Given the description of an element on the screen output the (x, y) to click on. 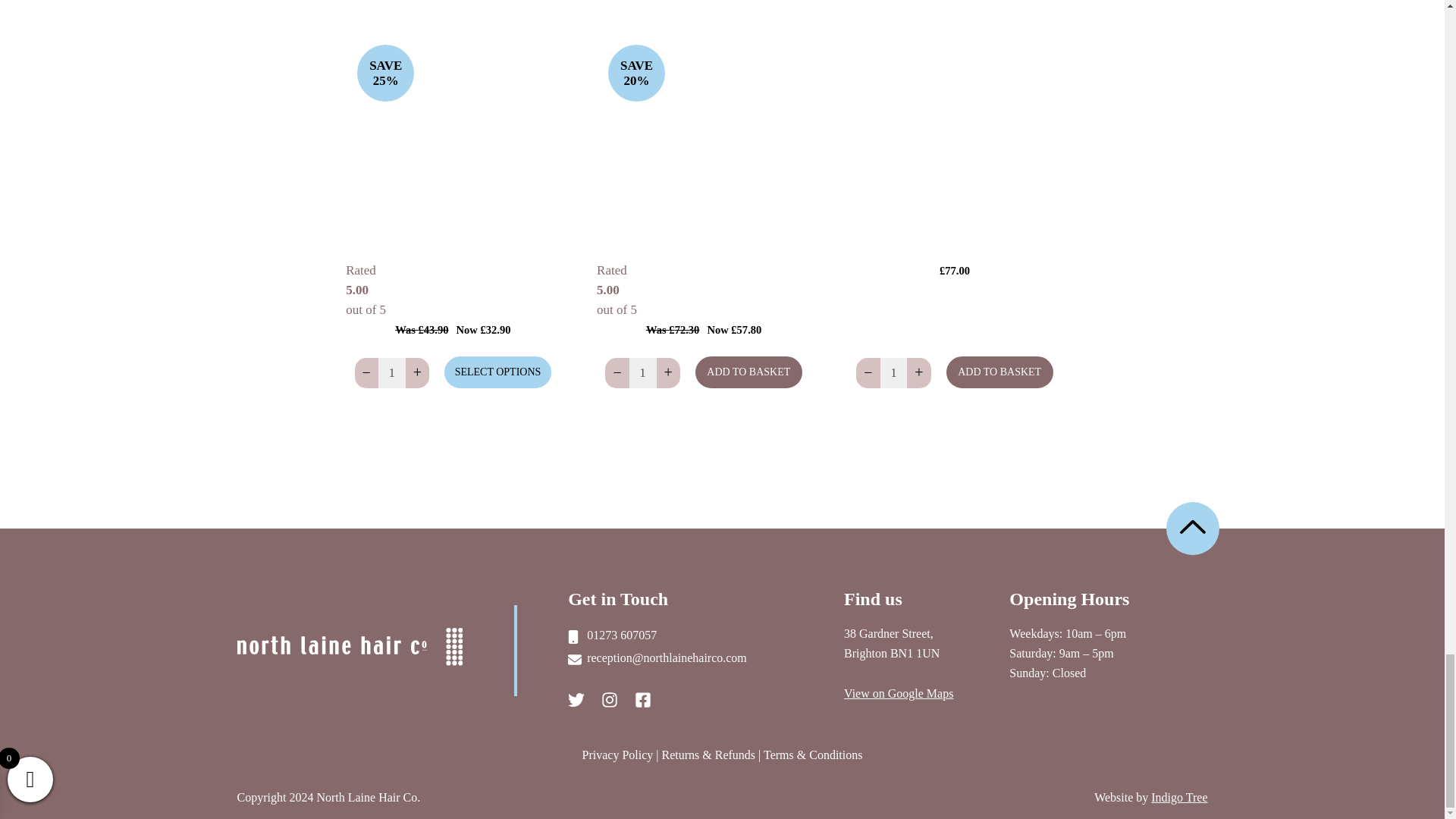
1 (391, 372)
1 (642, 372)
1 (892, 372)
